Given the description of an element on the screen output the (x, y) to click on. 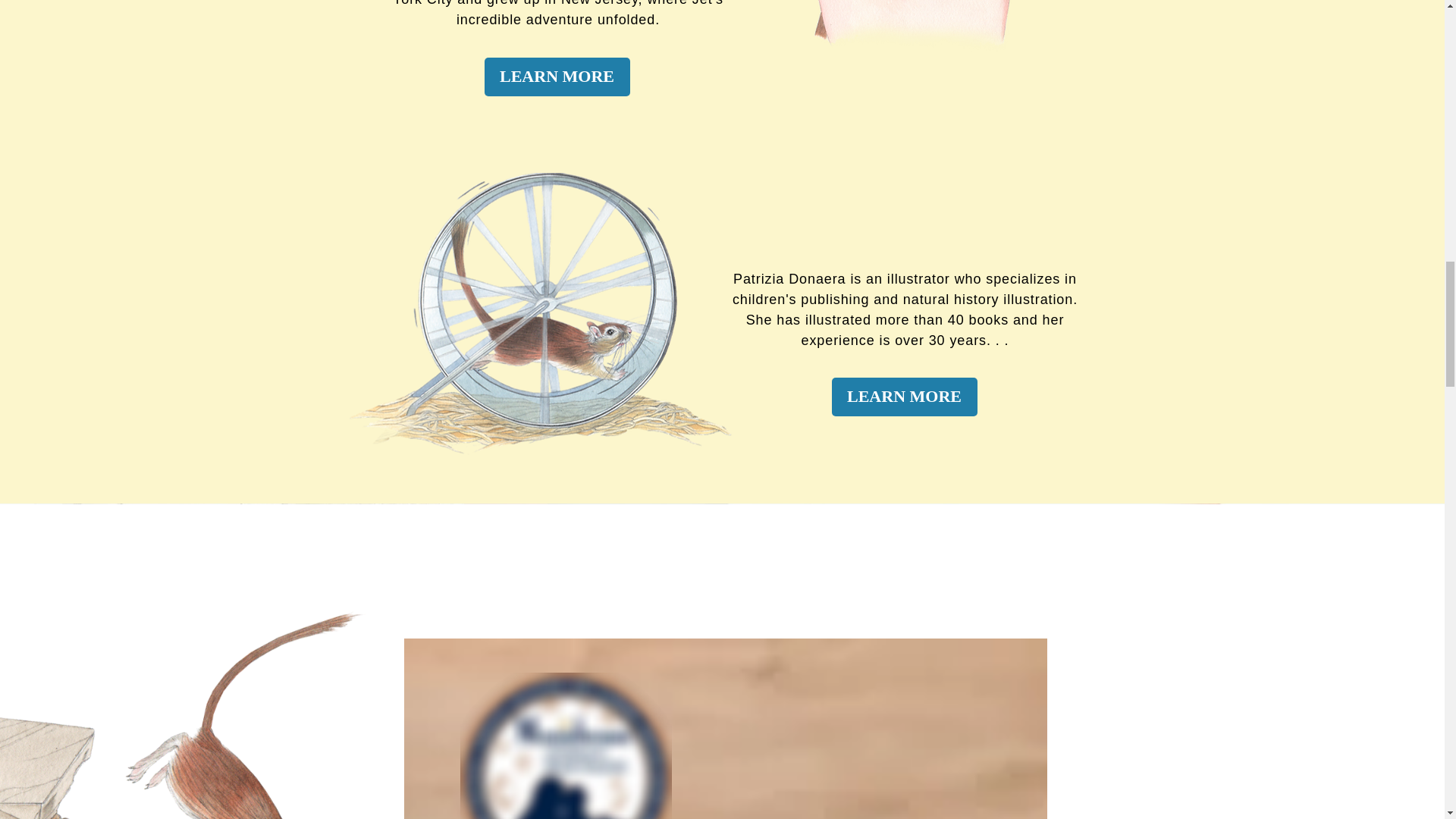
LEARN MORE (555, 76)
LEARN MORE (903, 396)
